Given the description of an element on the screen output the (x, y) to click on. 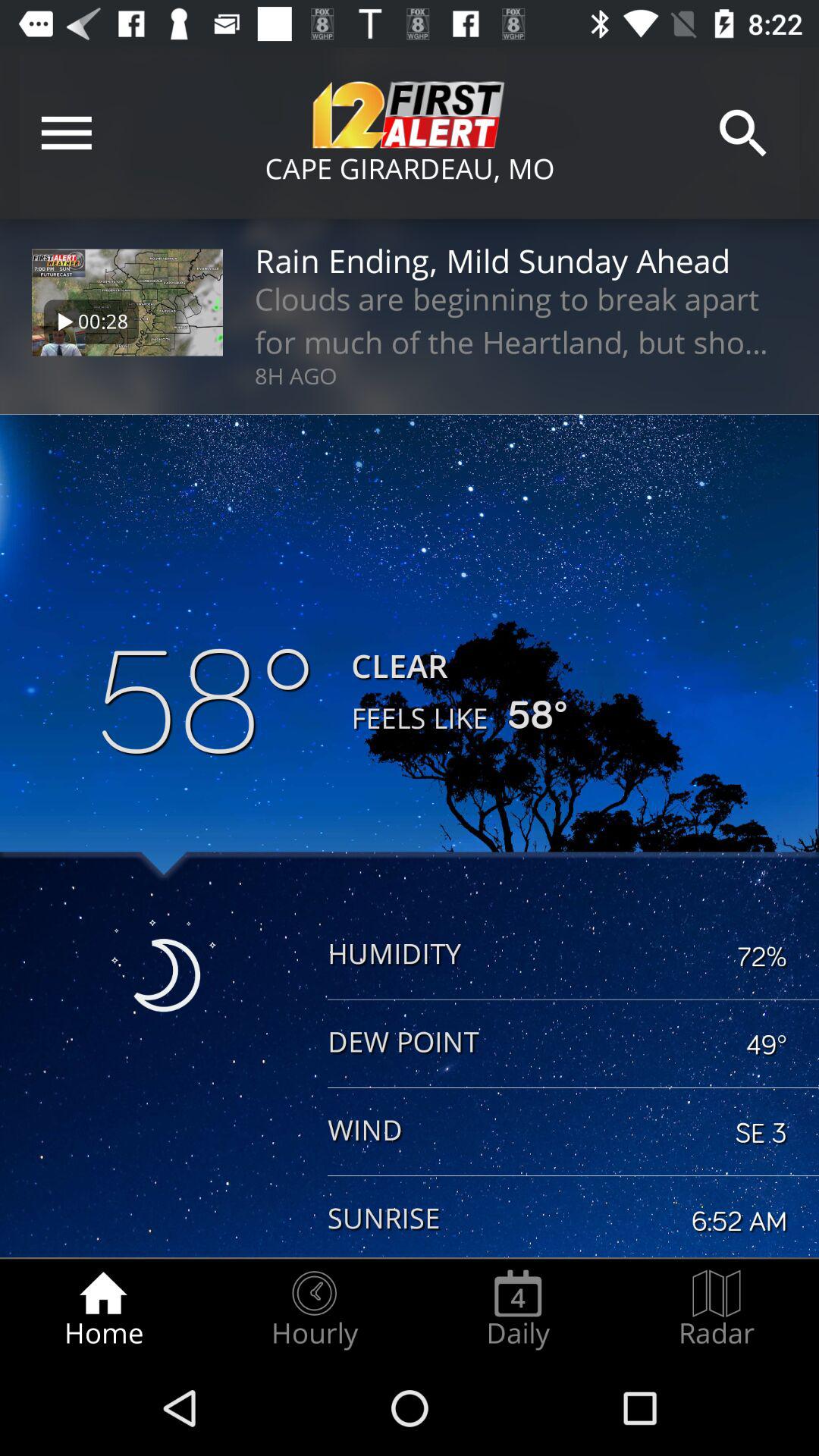
choose icon to the right of home icon (314, 1309)
